Given the description of an element on the screen output the (x, y) to click on. 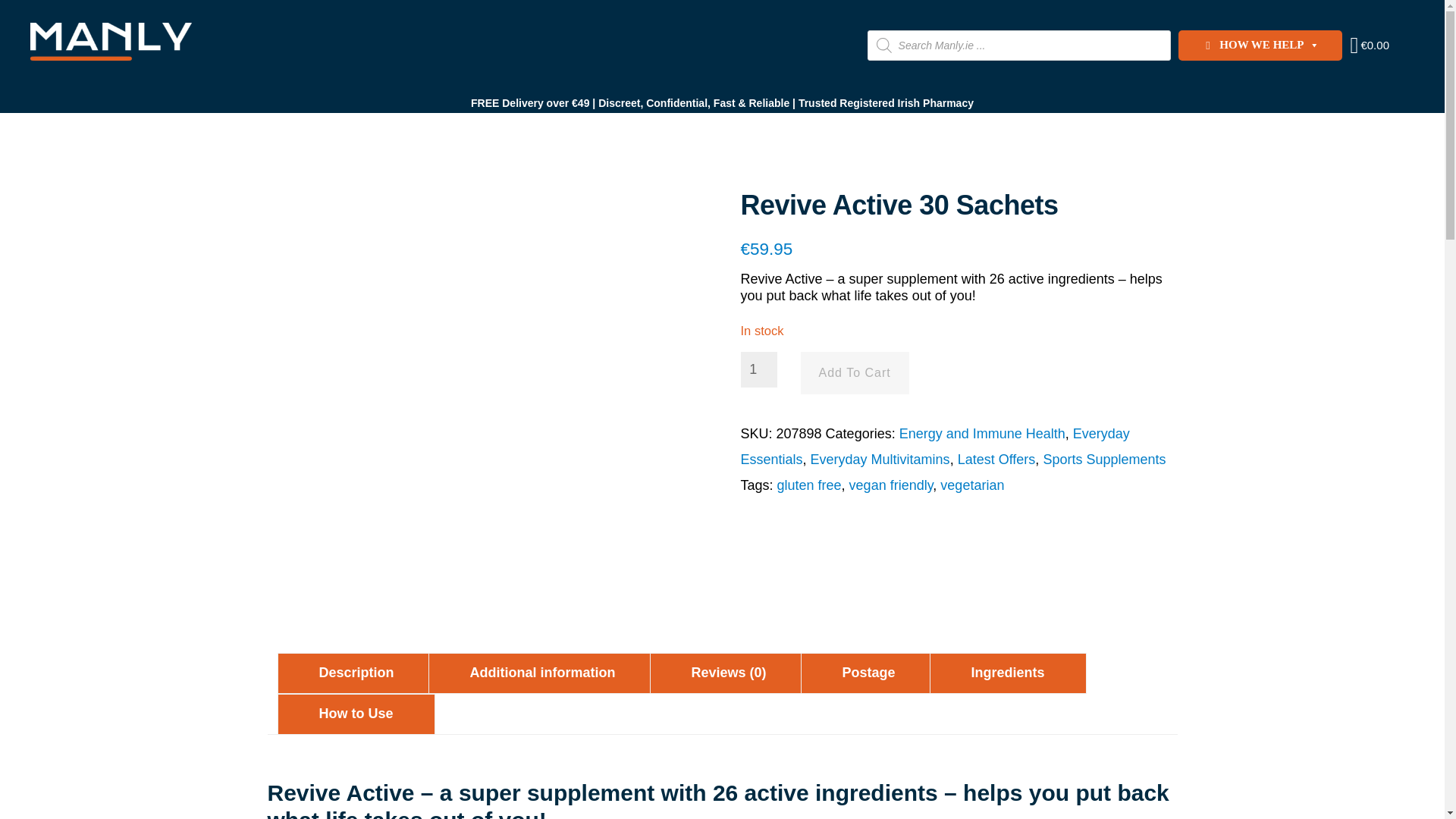
HOW WE HELP (1259, 45)
1 (758, 369)
